Given the description of an element on the screen output the (x, y) to click on. 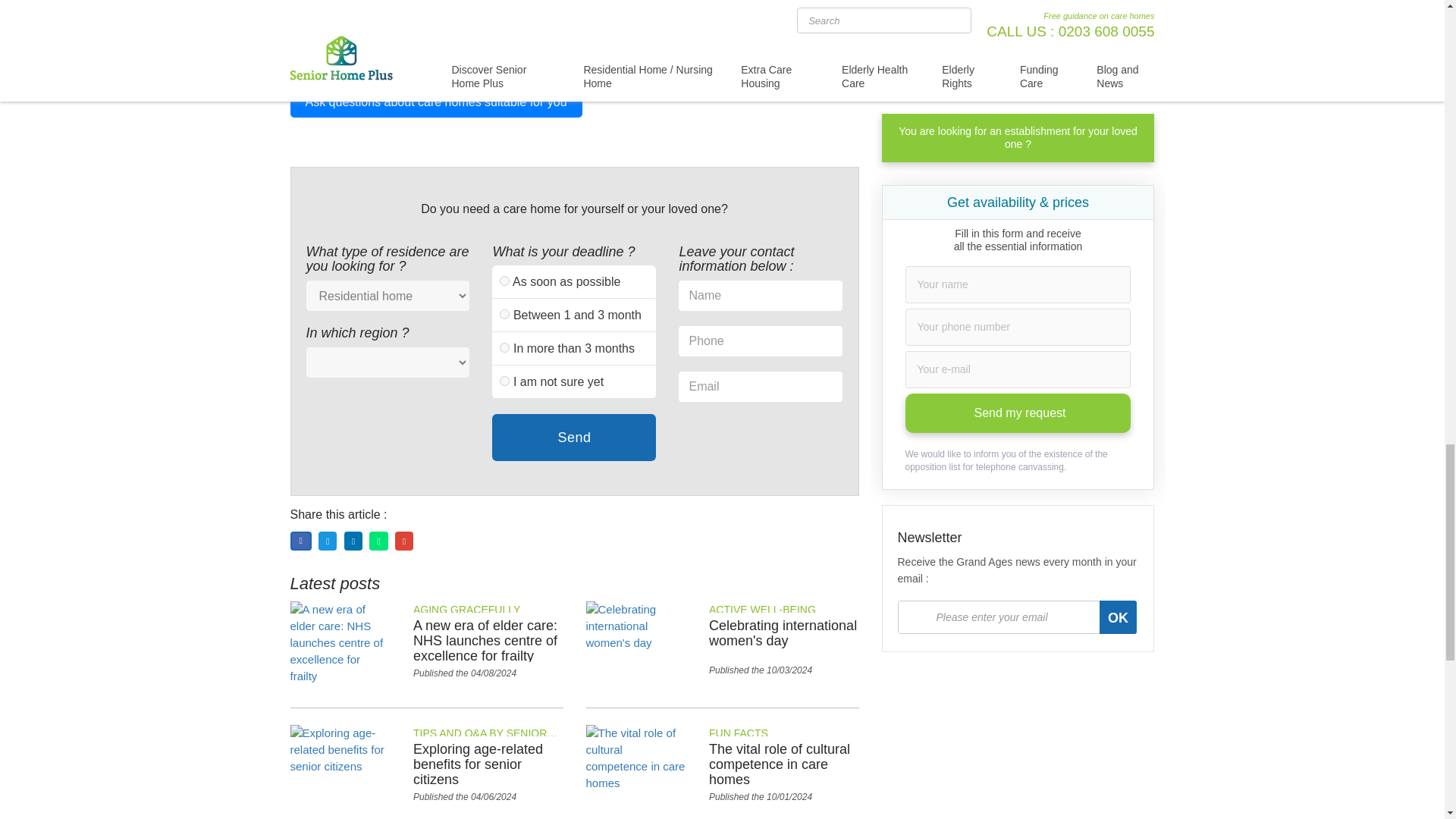
3 (504, 347)
0 (504, 380)
2 (504, 314)
1 (504, 280)
Name (760, 295)
Phone (760, 340)
